Given the description of an element on the screen output the (x, y) to click on. 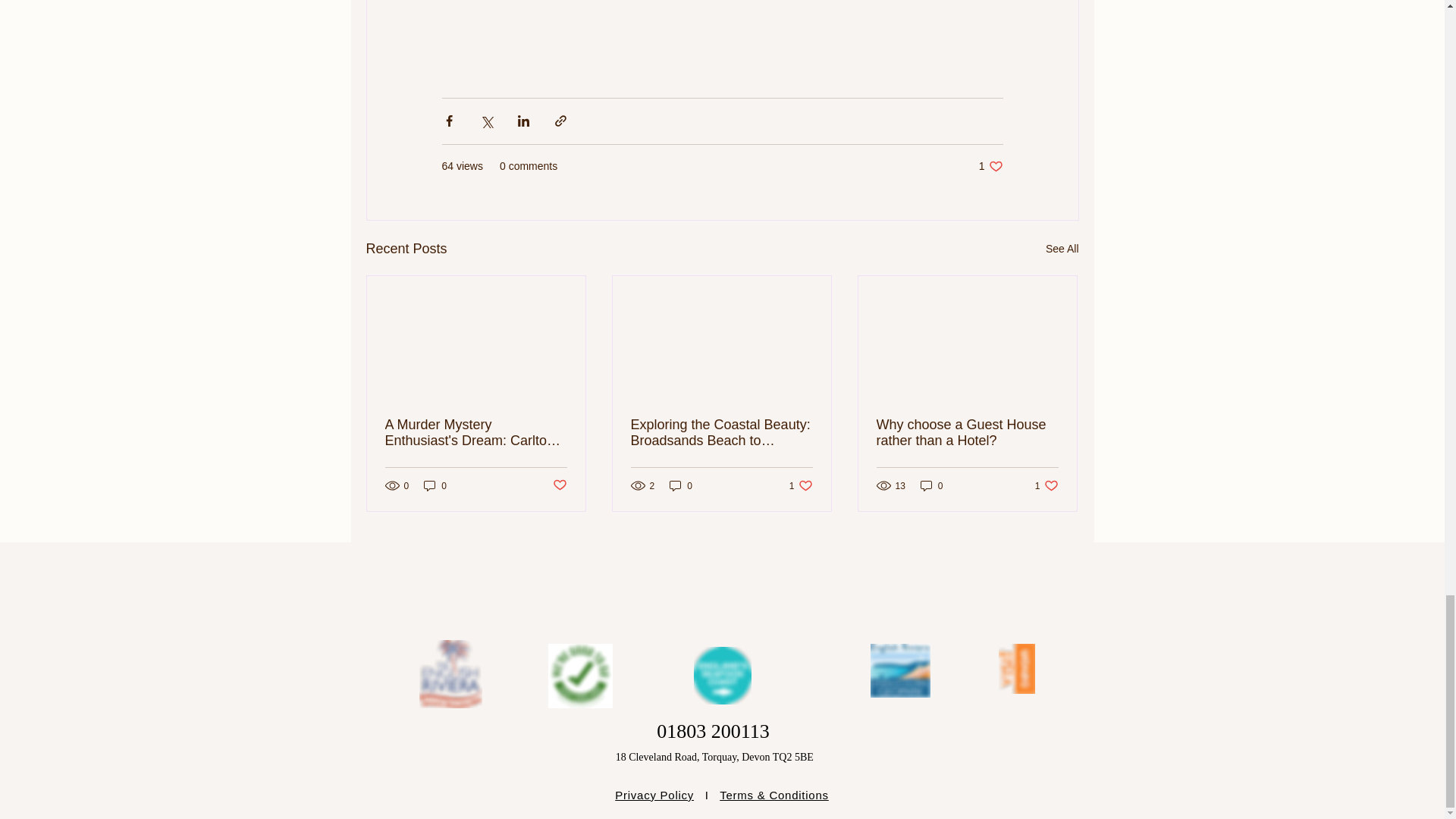
See All (1061, 249)
0 (990, 165)
